Given the description of an element on the screen output the (x, y) to click on. 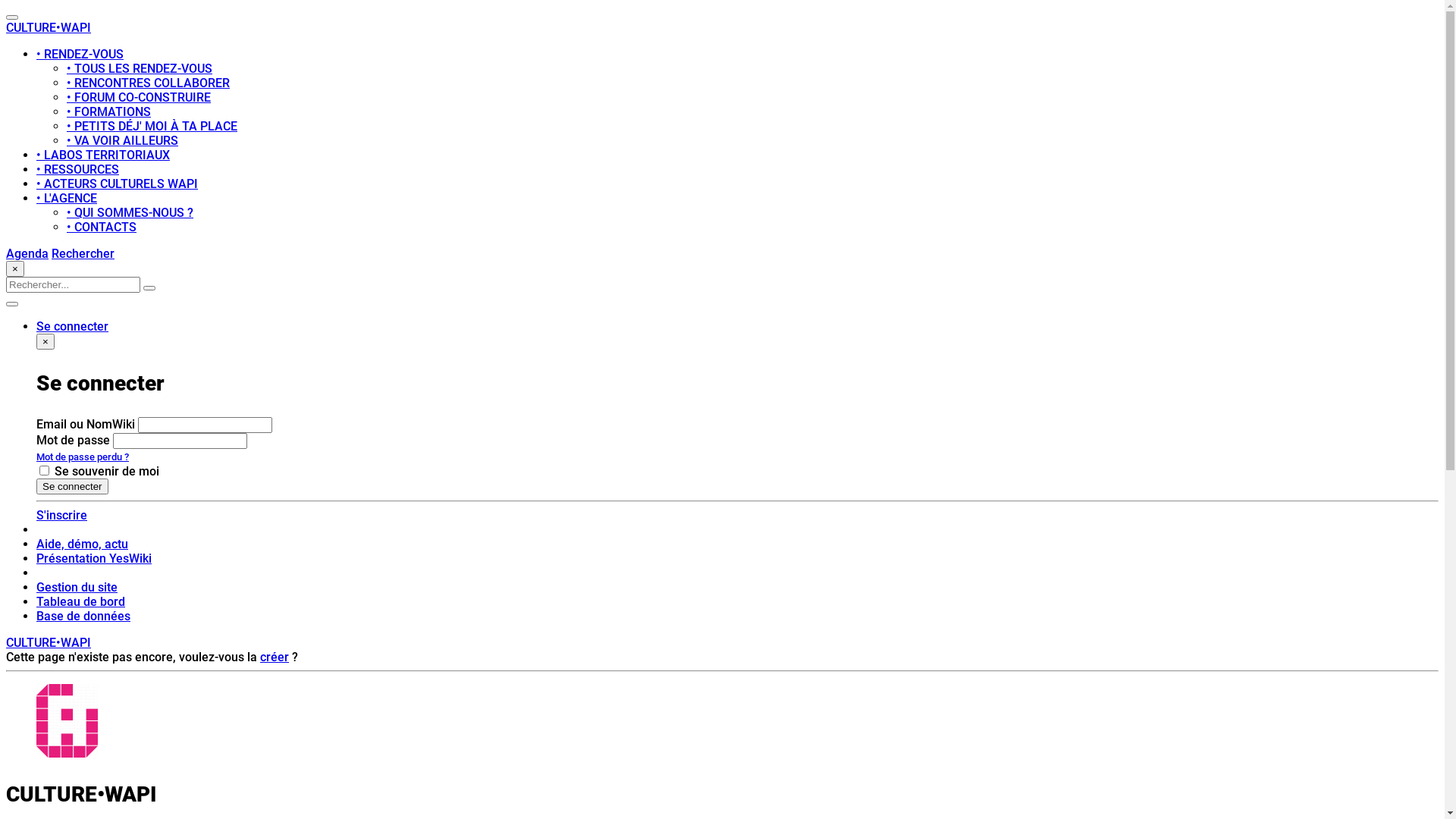
Rechercher dans YesWiki [alt-shift-C] Element type: hover (73, 284)
Rechercher les pages comportant ce texte. Element type: hover (149, 287)
Rechercher Element type: text (82, 253)
Agenda Element type: text (27, 253)
S'inscrire Element type: text (61, 515)
Mot de passe perdu ? Element type: text (82, 456)
Tableau de bord Element type: text (80, 601)
Se connecter Element type: text (72, 486)
Se connecter Element type: text (72, 326)
Gestion du site Element type: text (76, 587)
